Given the description of an element on the screen output the (x, y) to click on. 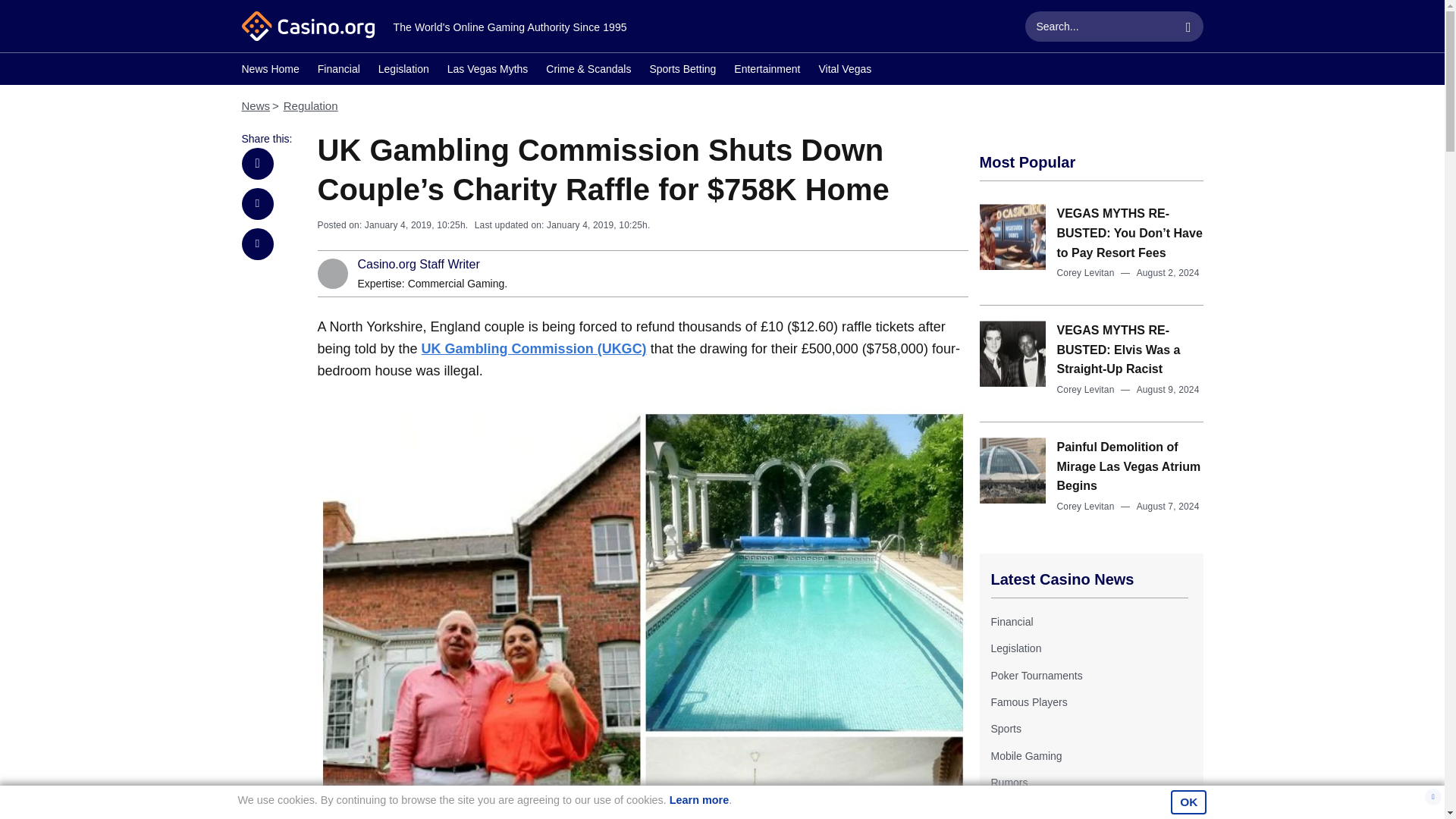
Legislation (403, 70)
Famous Players (1028, 702)
Financial (338, 70)
Sports (1005, 728)
Mobile Gaming (1025, 756)
Poker Tournaments (1035, 675)
Las Vegas Myths (487, 70)
News Home (269, 70)
Poker Tournaments (1035, 675)
Rumors (1008, 782)
